Given the description of an element on the screen output the (x, y) to click on. 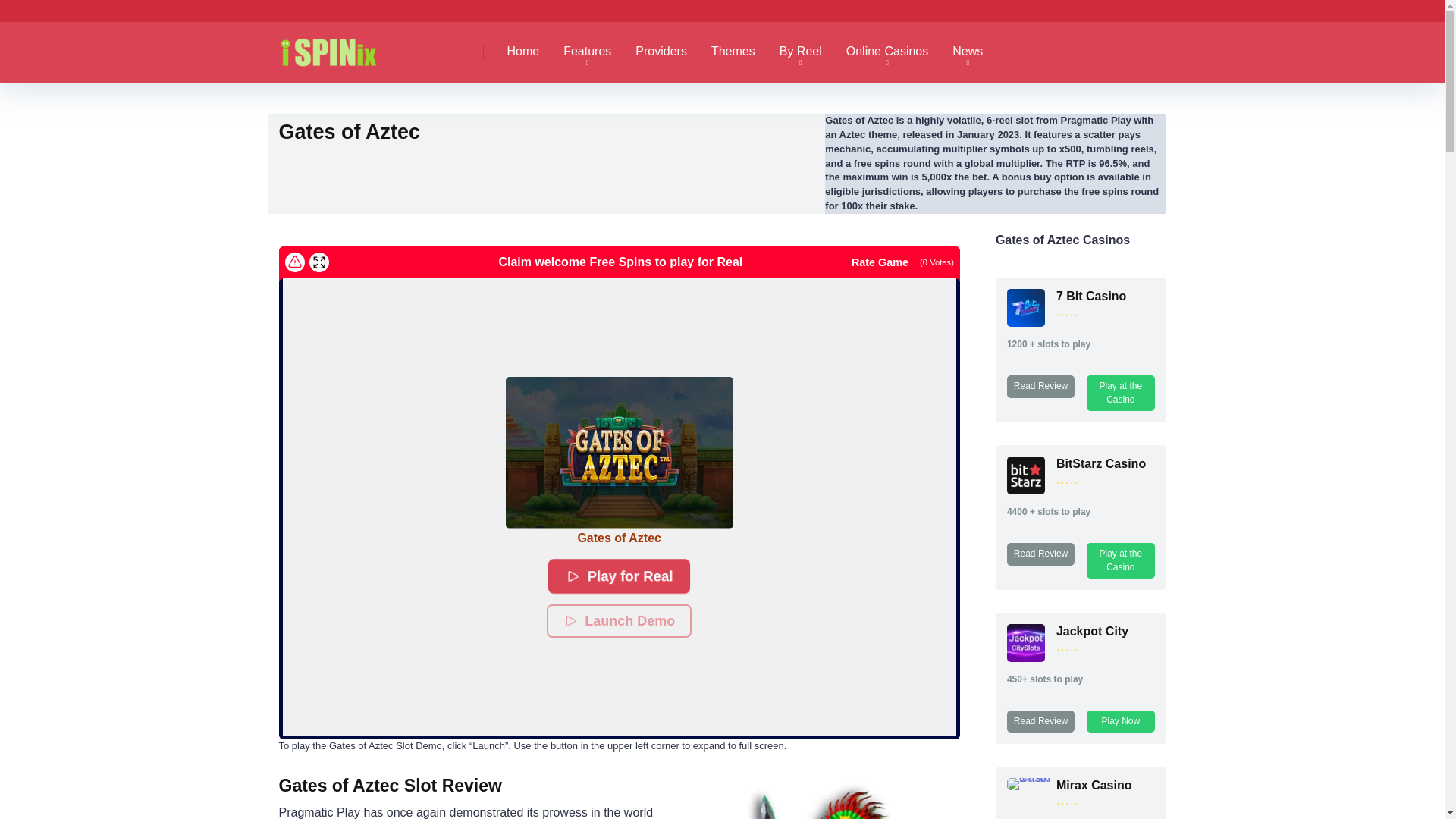
Home (523, 52)
Report an issue with this game (294, 261)
Go Full Screen (318, 261)
7 Bit Casino (1026, 322)
Themes (732, 52)
7 Bit Casino (1091, 295)
By Reel (800, 52)
BitStarz Casino (1101, 463)
Read Review (1040, 386)
Play at the Casino (1120, 393)
Read Review (1040, 553)
Features (587, 52)
Play at the Casino (1120, 560)
BitStarz Casino (1026, 490)
iSPINix.com (344, 46)
